Given the description of an element on the screen output the (x, y) to click on. 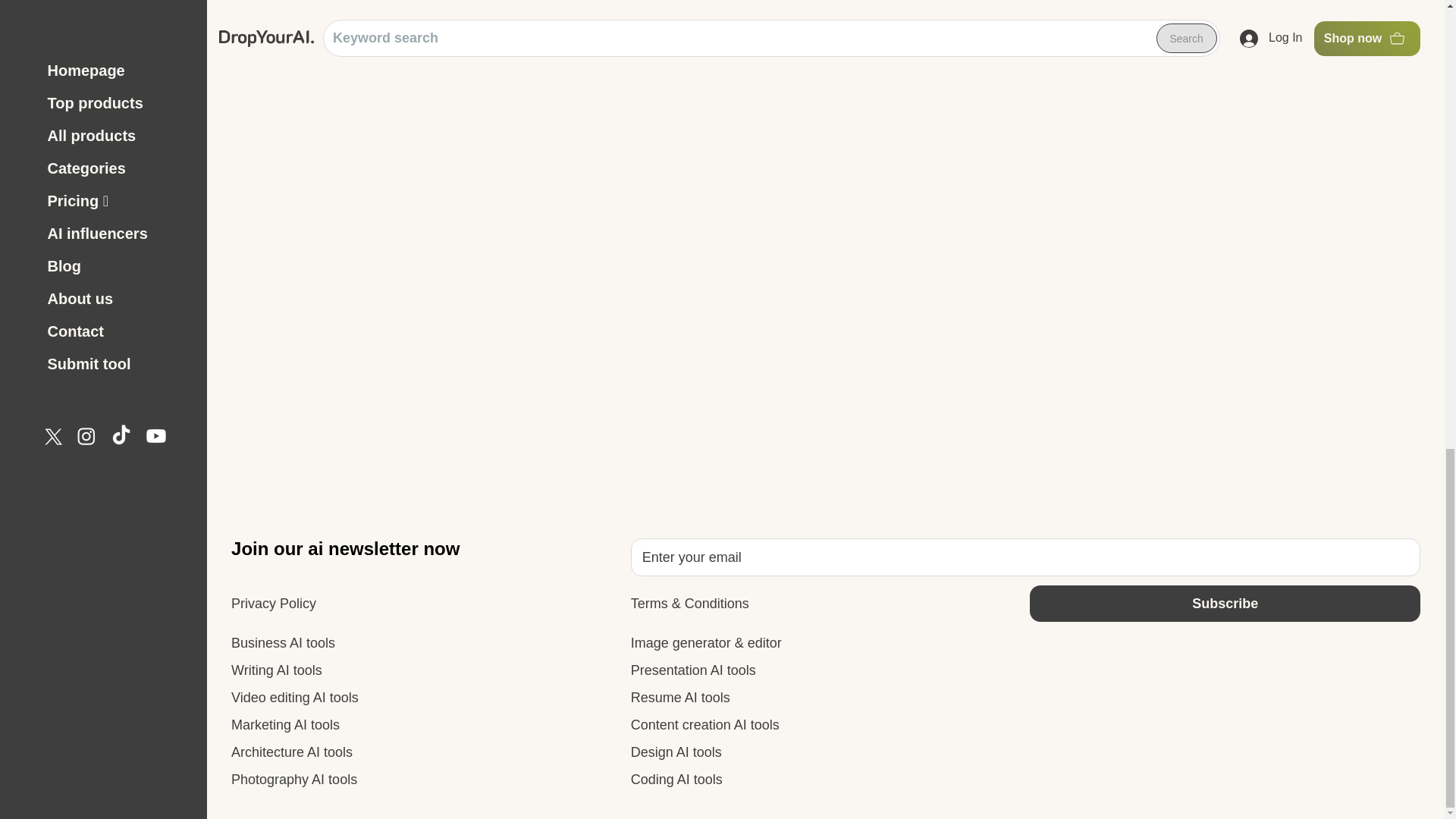
Coding AI tools (676, 779)
Business AI tools (282, 642)
Marketing AI tools (285, 724)
Design AI tools (676, 752)
Resume AI tools (680, 697)
Presentation AI tools (692, 670)
Writing AI tools (276, 670)
Architecture AI tools (291, 752)
Photography AI tools (293, 779)
Privacy Policy (273, 603)
Video editing AI tools (294, 697)
Content creation AI tools (704, 724)
